Given the description of an element on the screen output the (x, y) to click on. 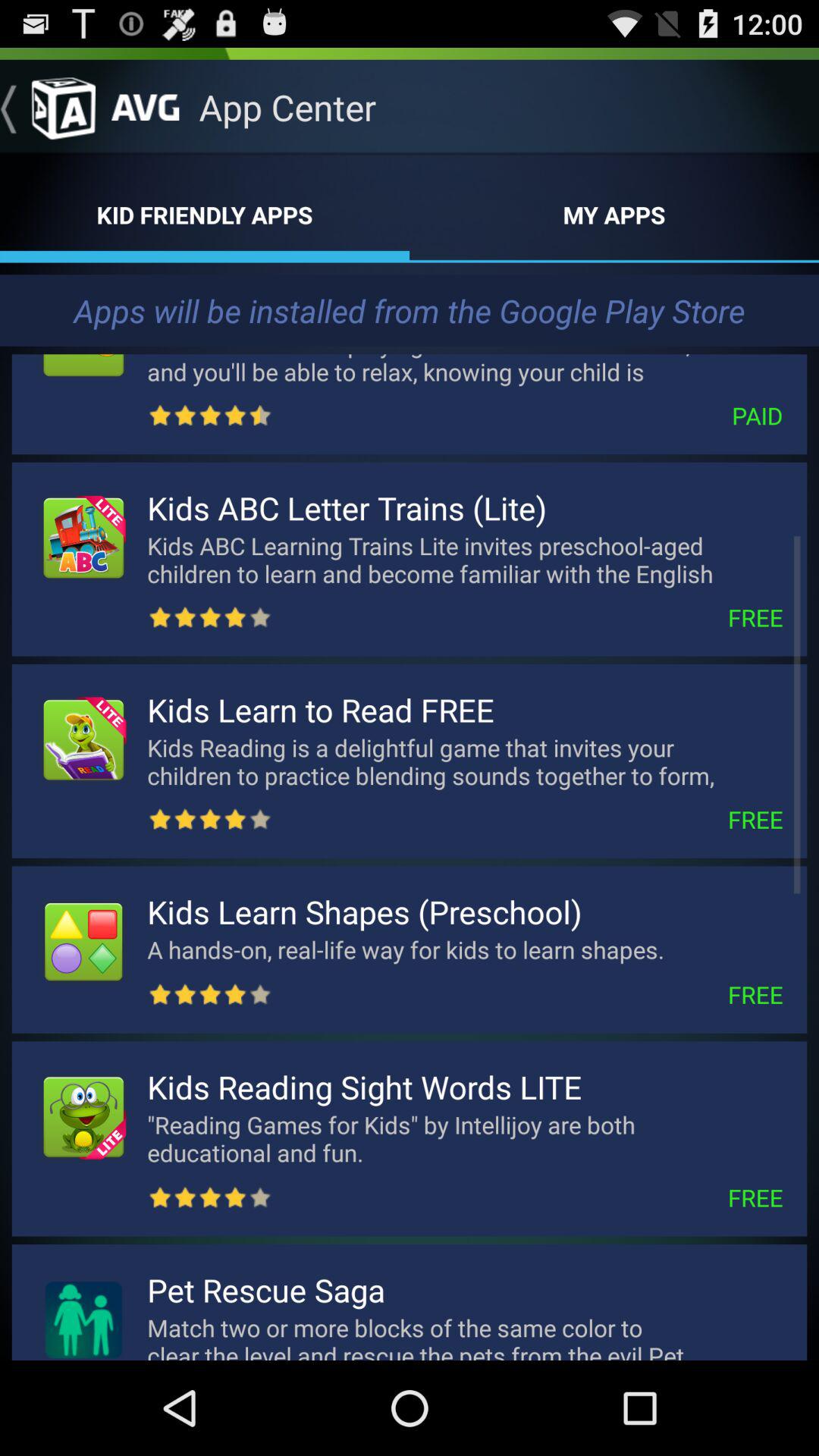
flip until the your child will item (465, 366)
